Given the description of an element on the screen output the (x, y) to click on. 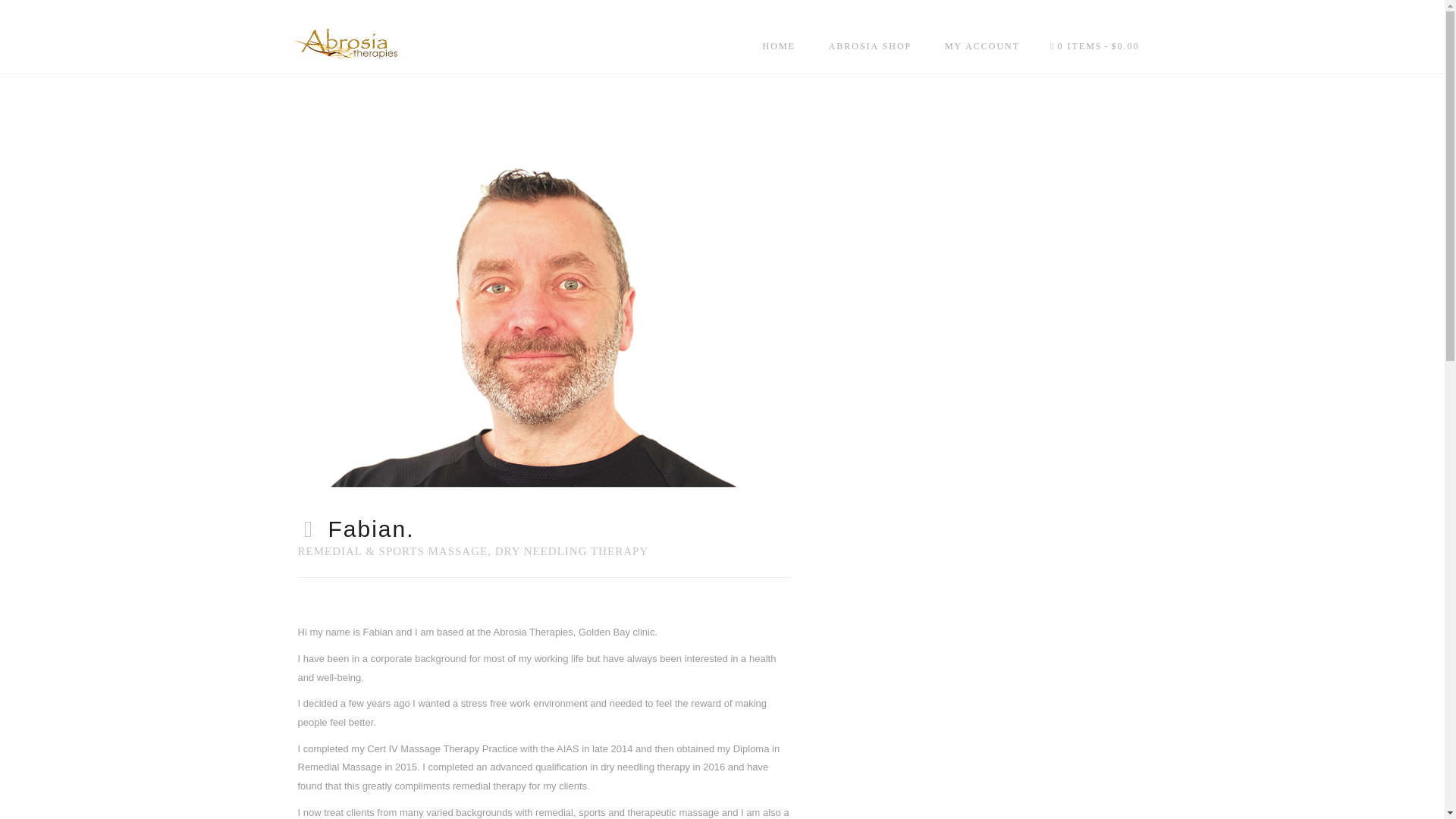
Start shopping (1094, 46)
ABROSIA SHOP (870, 46)
HOME (779, 46)
MY ACCOUNT (982, 46)
